Given the description of an element on the screen output the (x, y) to click on. 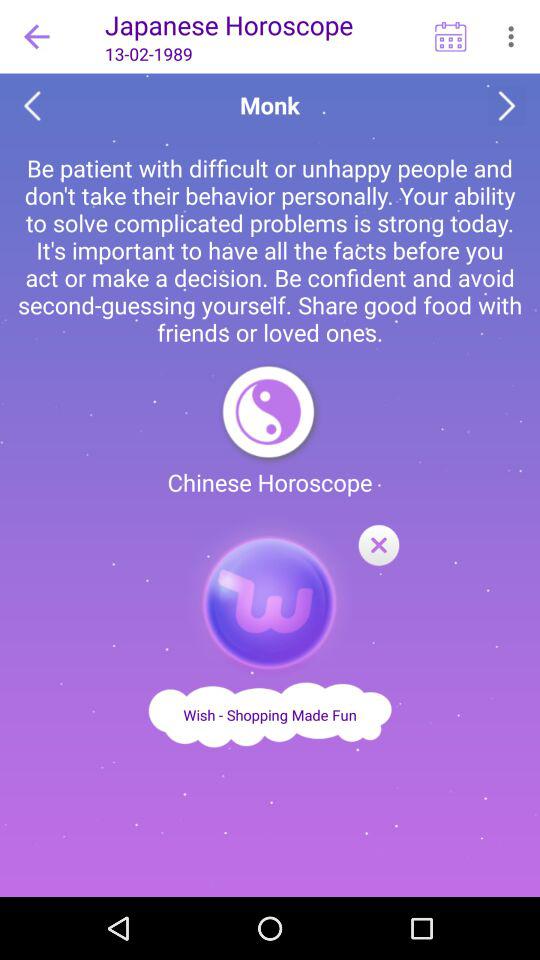
open calendar (450, 36)
